Given the description of an element on the screen output the (x, y) to click on. 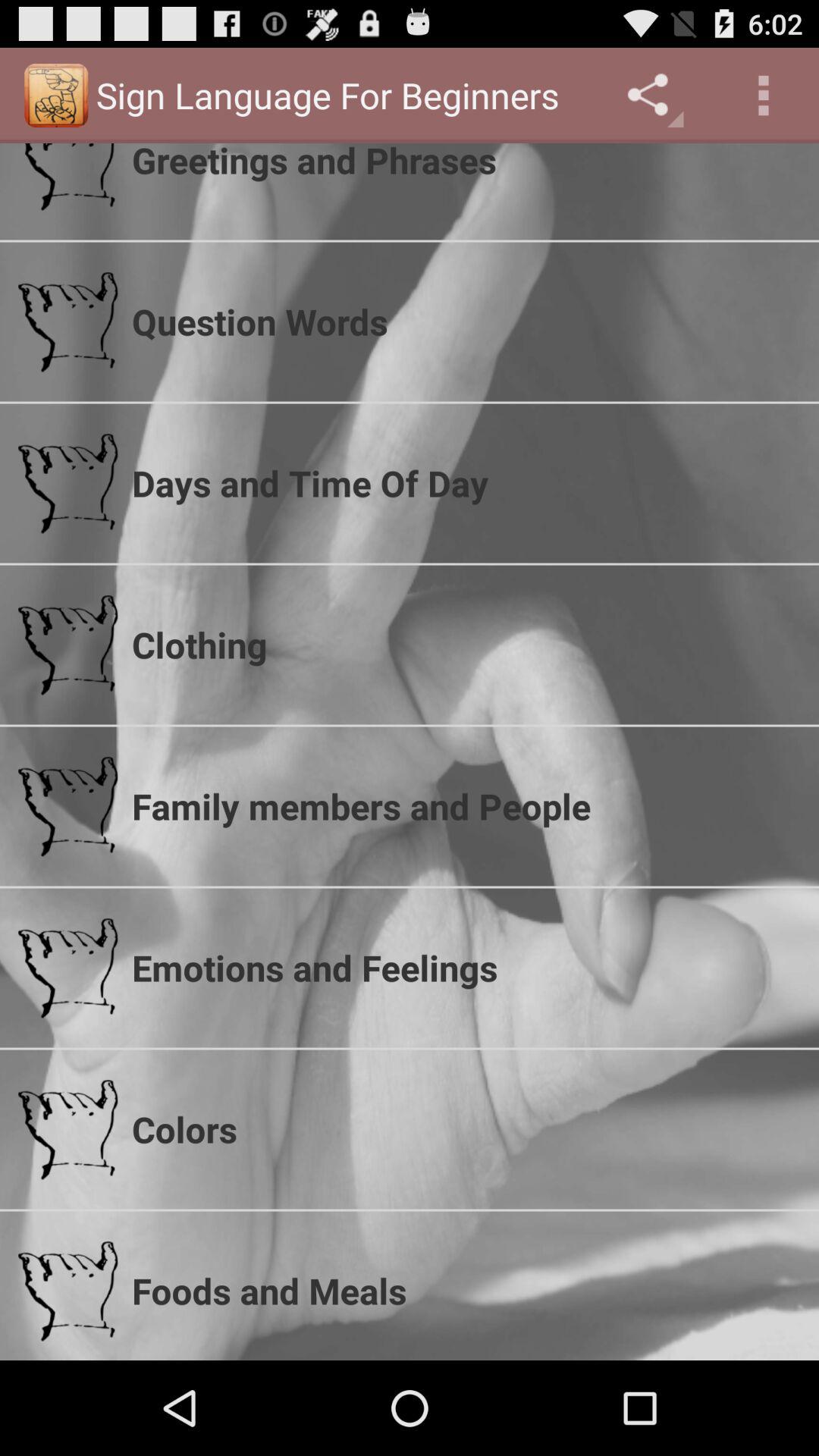
scroll until the family members and (465, 806)
